Given the description of an element on the screen output the (x, y) to click on. 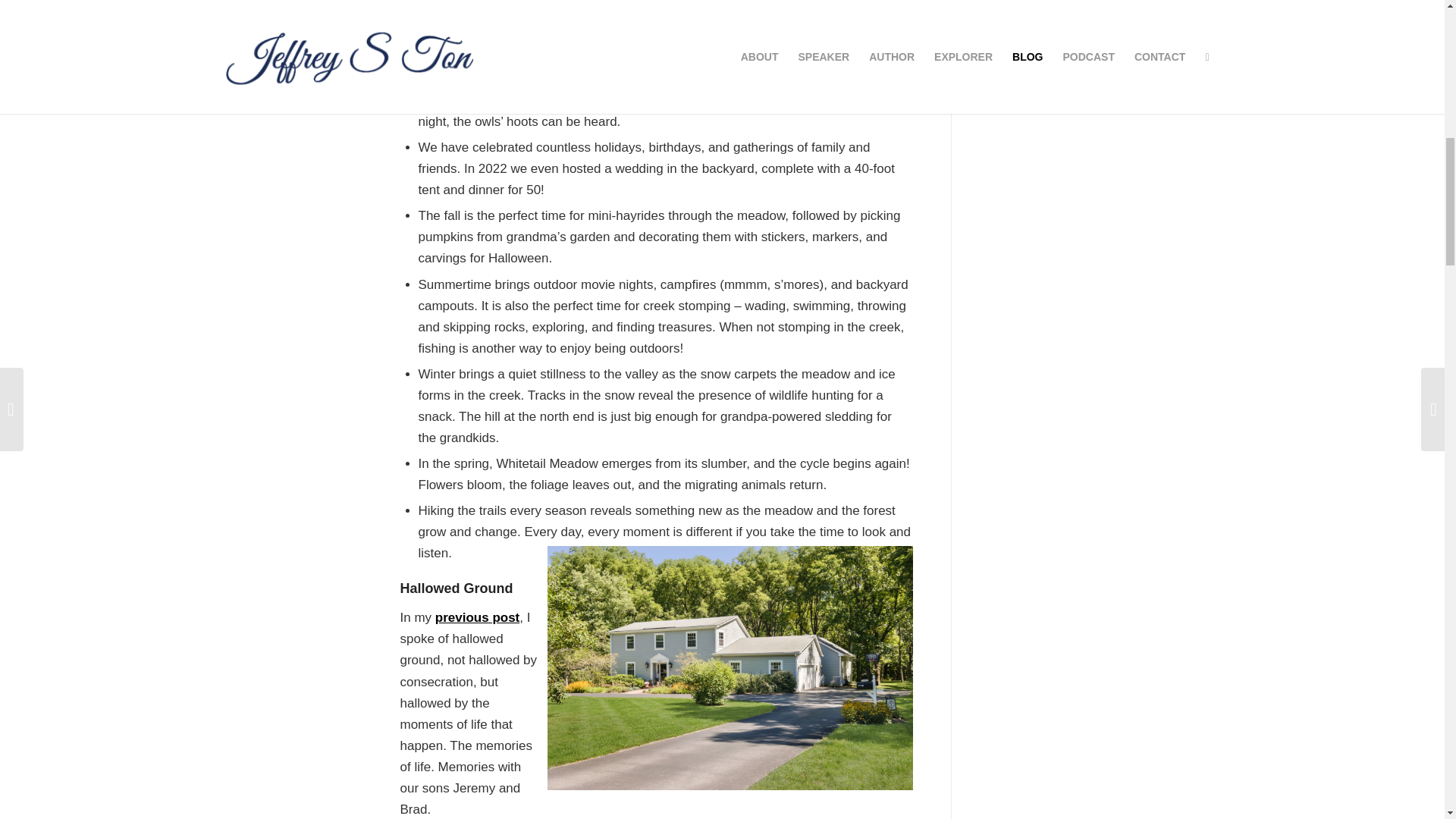
previous post (477, 617)
